Given the description of an element on the screen output the (x, y) to click on. 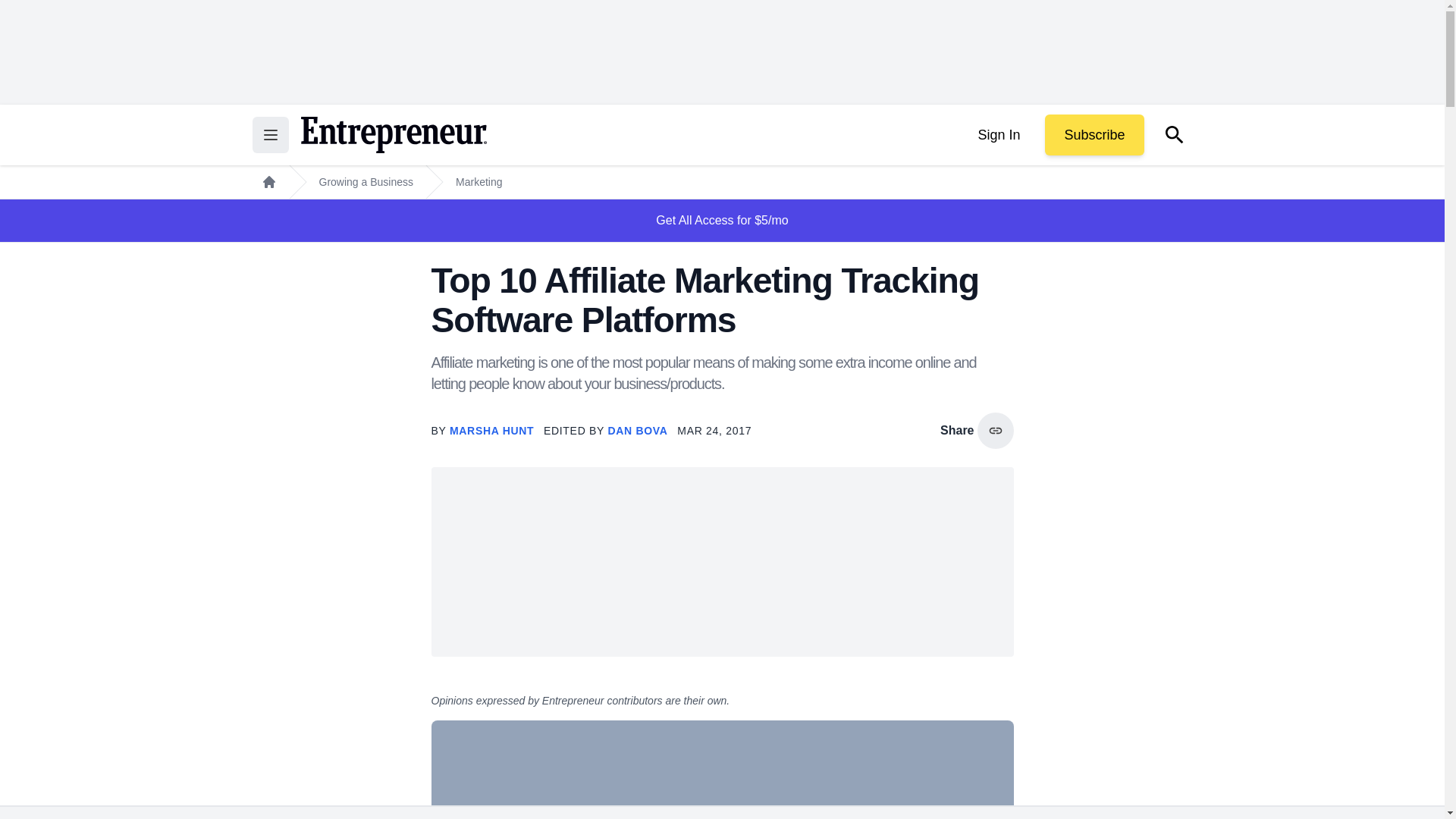
Sign In (998, 134)
Return to the home page (392, 135)
copy (994, 430)
Subscribe (1093, 134)
